Given the description of an element on the screen output the (x, y) to click on. 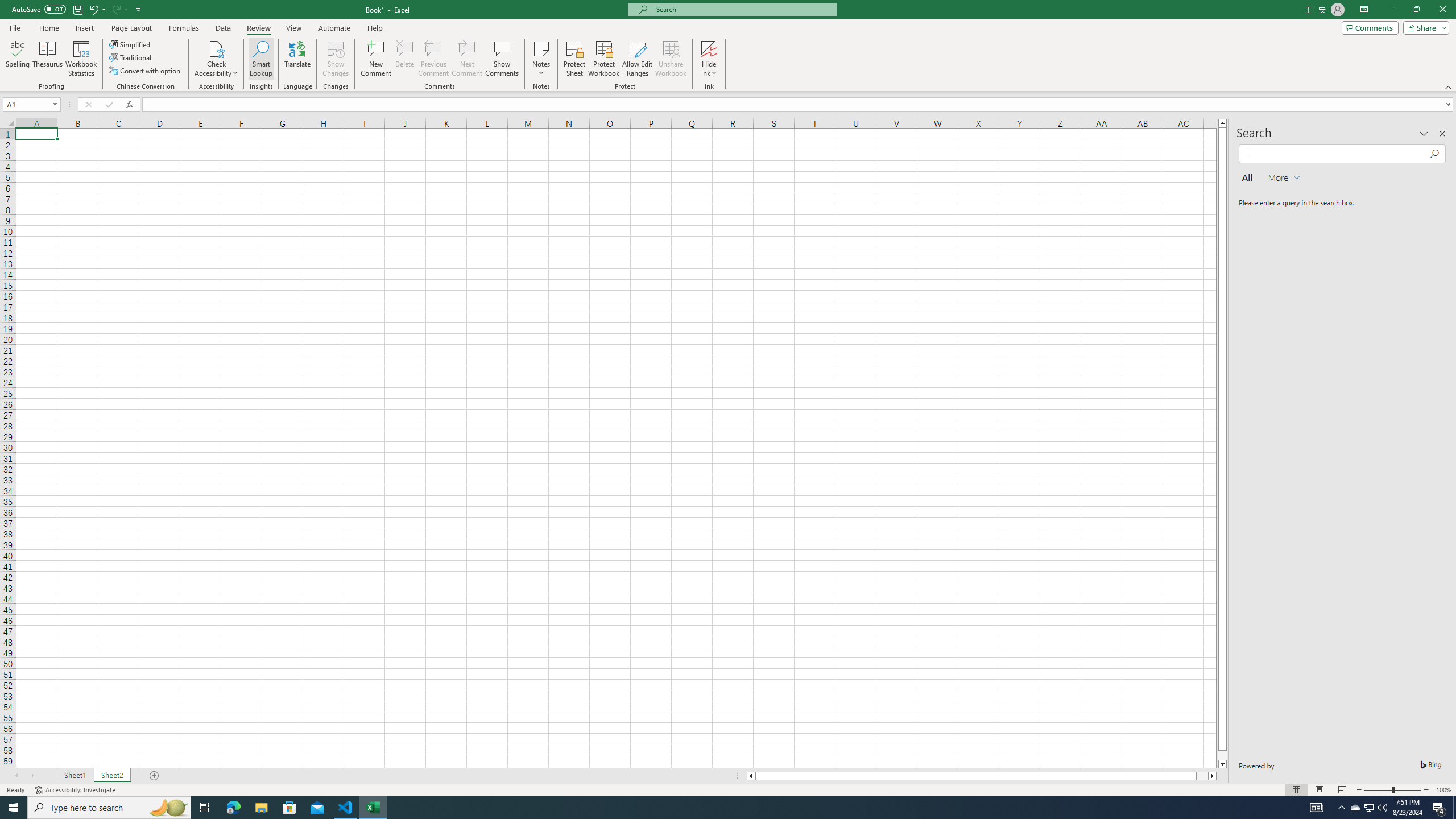
Convert with option (145, 69)
Delete (404, 58)
Hide Ink (708, 58)
Spelling... (17, 58)
Workbook Statistics (81, 58)
Protect Workbook... (603, 58)
Unshare Workbook (670, 58)
